Given the description of an element on the screen output the (x, y) to click on. 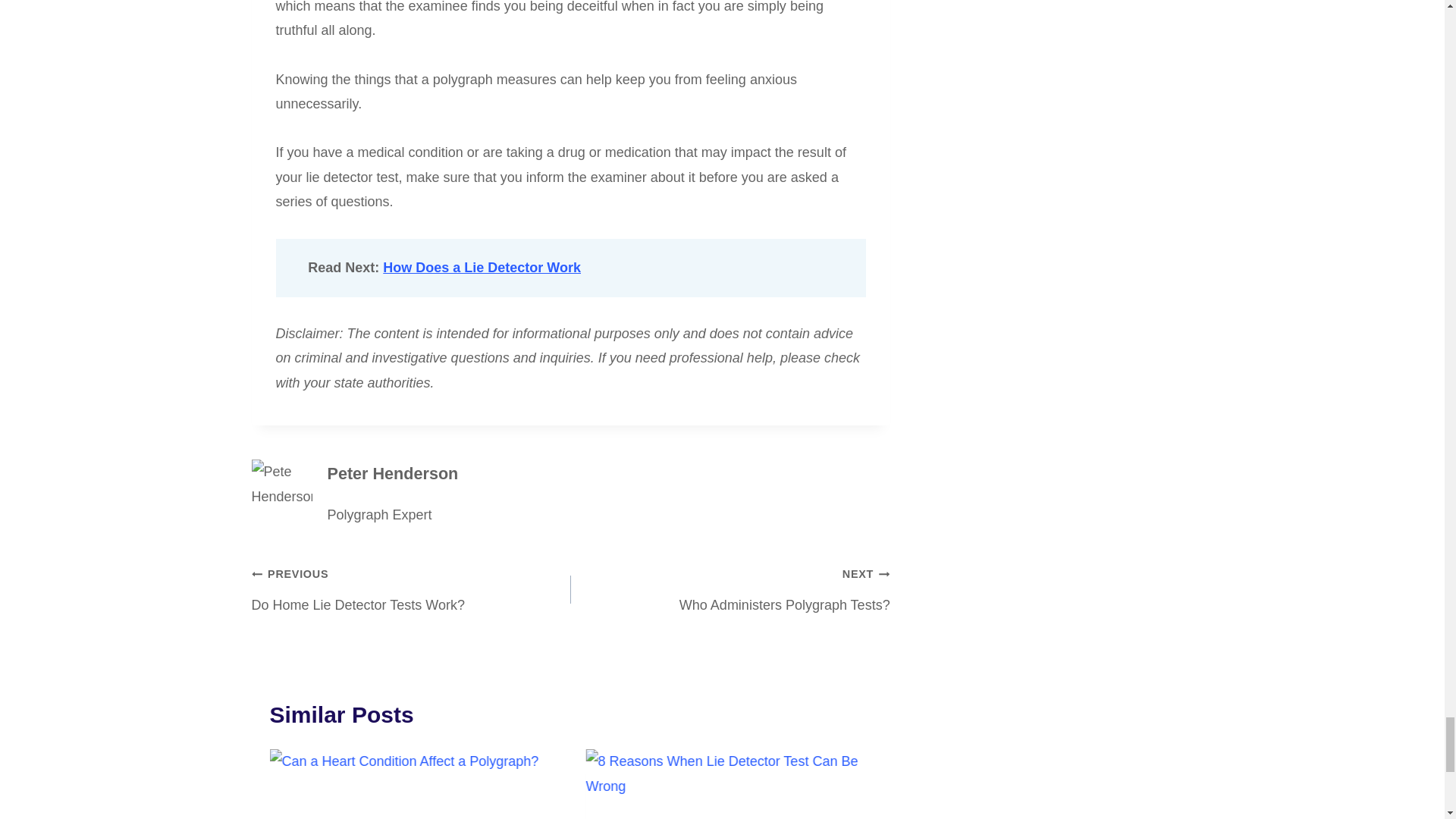
How Does a Lie Detector Work (481, 267)
